Given the description of an element on the screen output the (x, y) to click on. 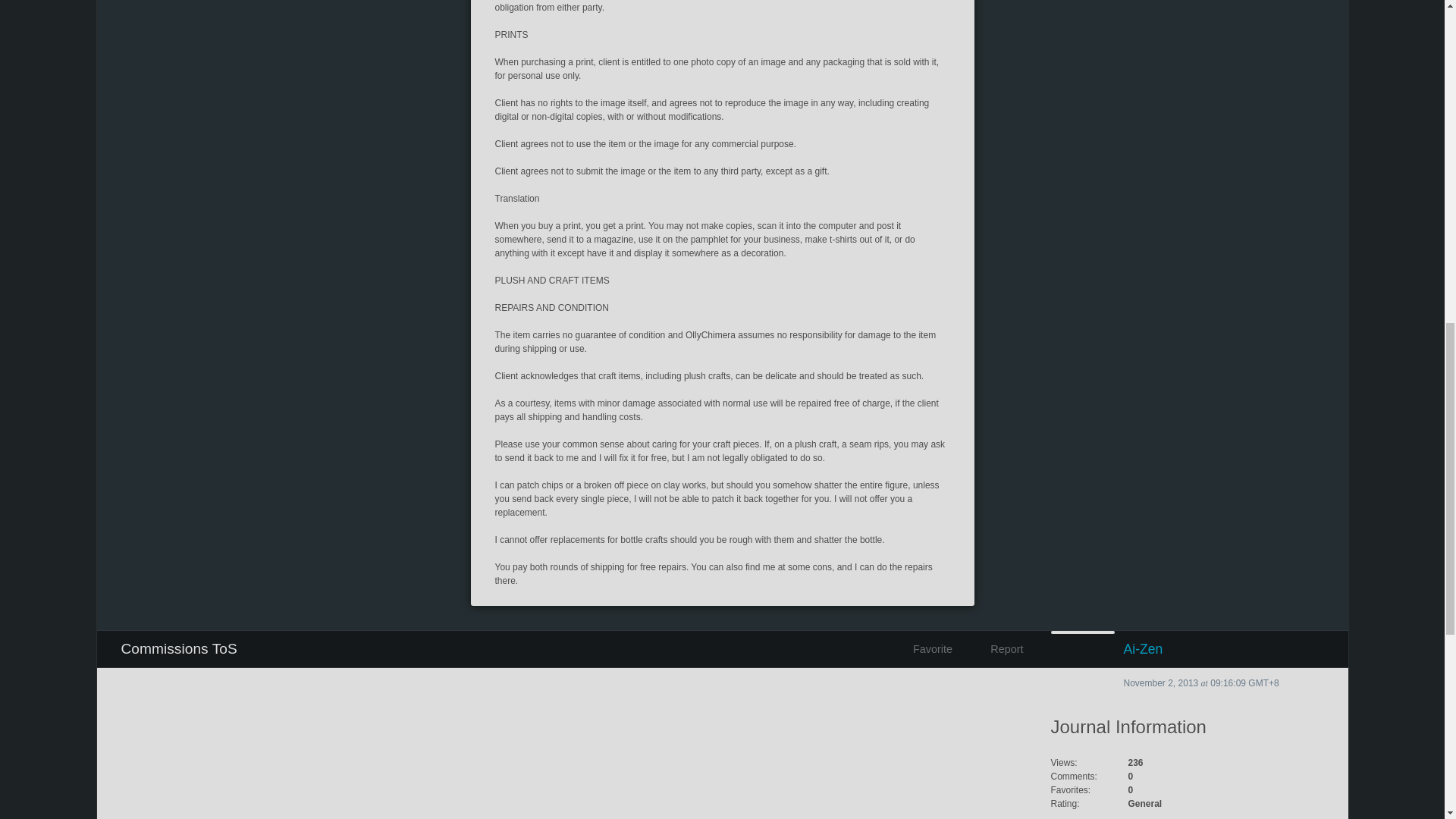
Report (993, 648)
Ai-Zen (1187, 648)
Favorite (927, 648)
